Given the description of an element on the screen output the (x, y) to click on. 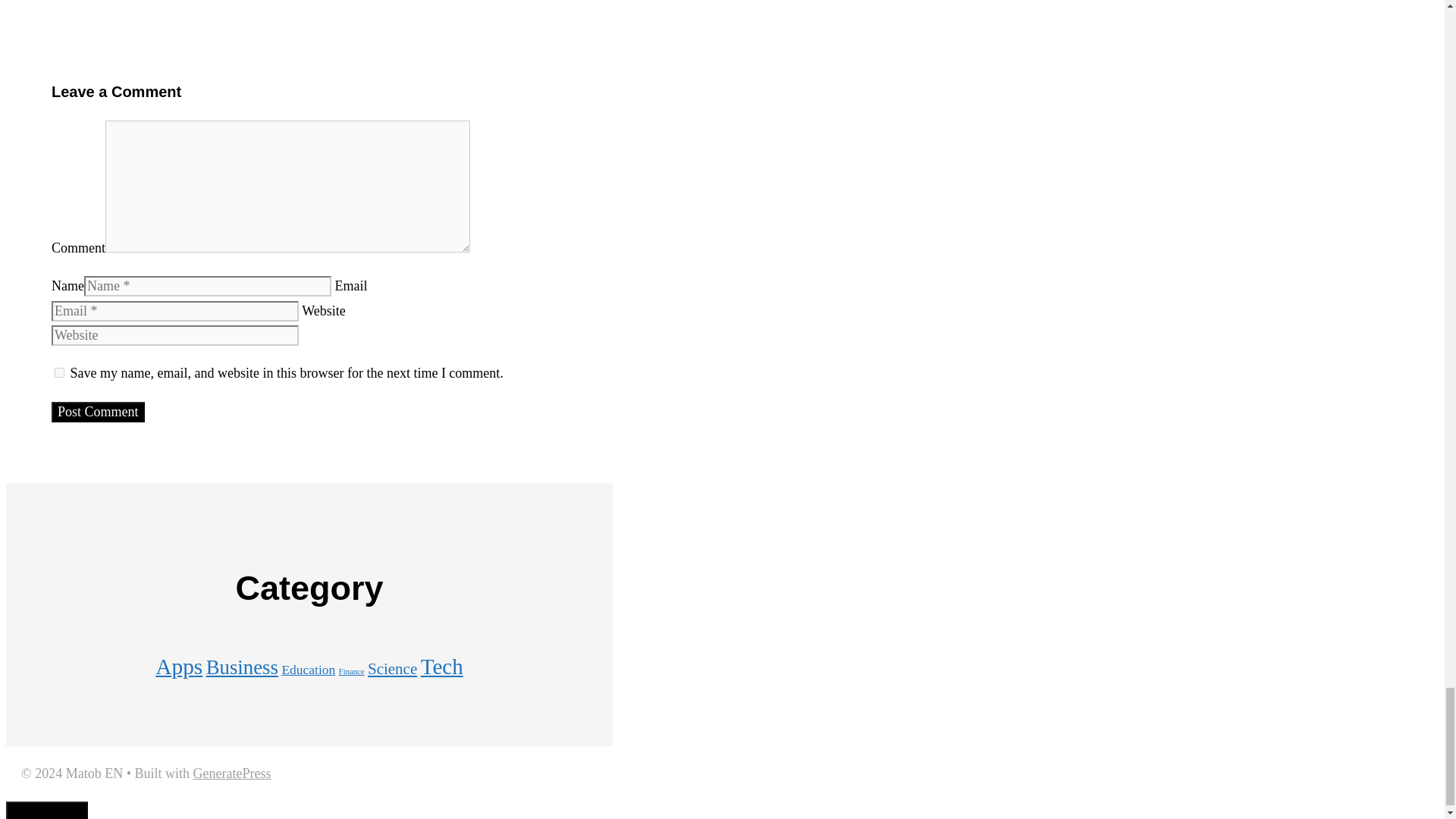
yes (59, 372)
Science (392, 669)
Finance (352, 671)
GeneratePress (231, 773)
Education (307, 669)
Post Comment (97, 412)
Post Comment (97, 412)
Tech (441, 666)
Business (242, 667)
Apps (178, 666)
